Given the description of an element on the screen output the (x, y) to click on. 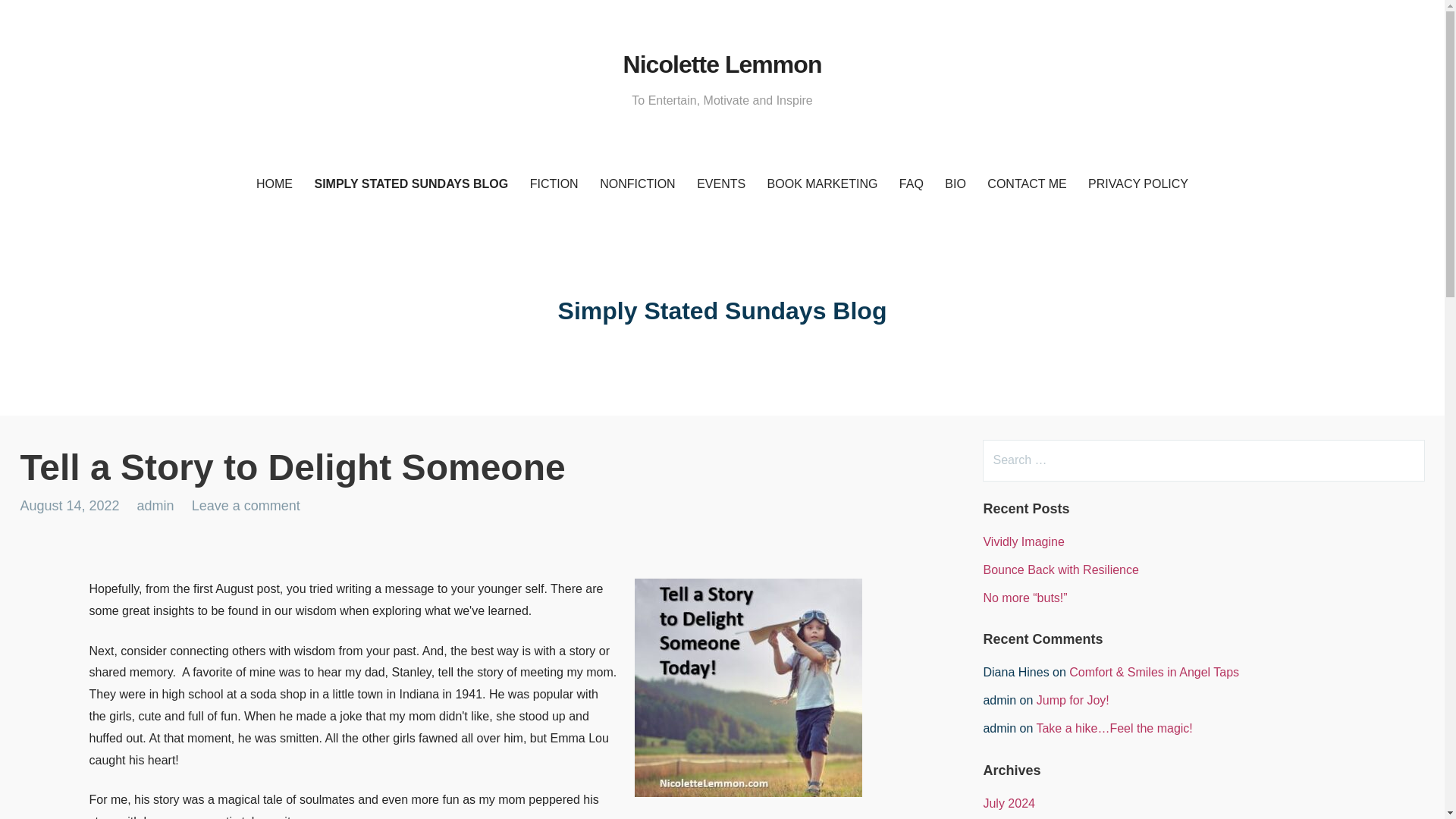
HOME (274, 184)
CONTACT ME (1026, 184)
Vividly Imagine (1023, 541)
Jump for Joy! (1072, 699)
admin (155, 505)
Leave a comment (245, 505)
NONFICTION (637, 184)
PRIVACY POLICY (1137, 184)
Search (42, 18)
Nicolette Lemmon (722, 63)
EVENTS (720, 184)
Bounce Back with Resilience (1060, 569)
Posts by admin (155, 505)
FAQ (911, 184)
July 2024 (1008, 802)
